Given the description of an element on the screen output the (x, y) to click on. 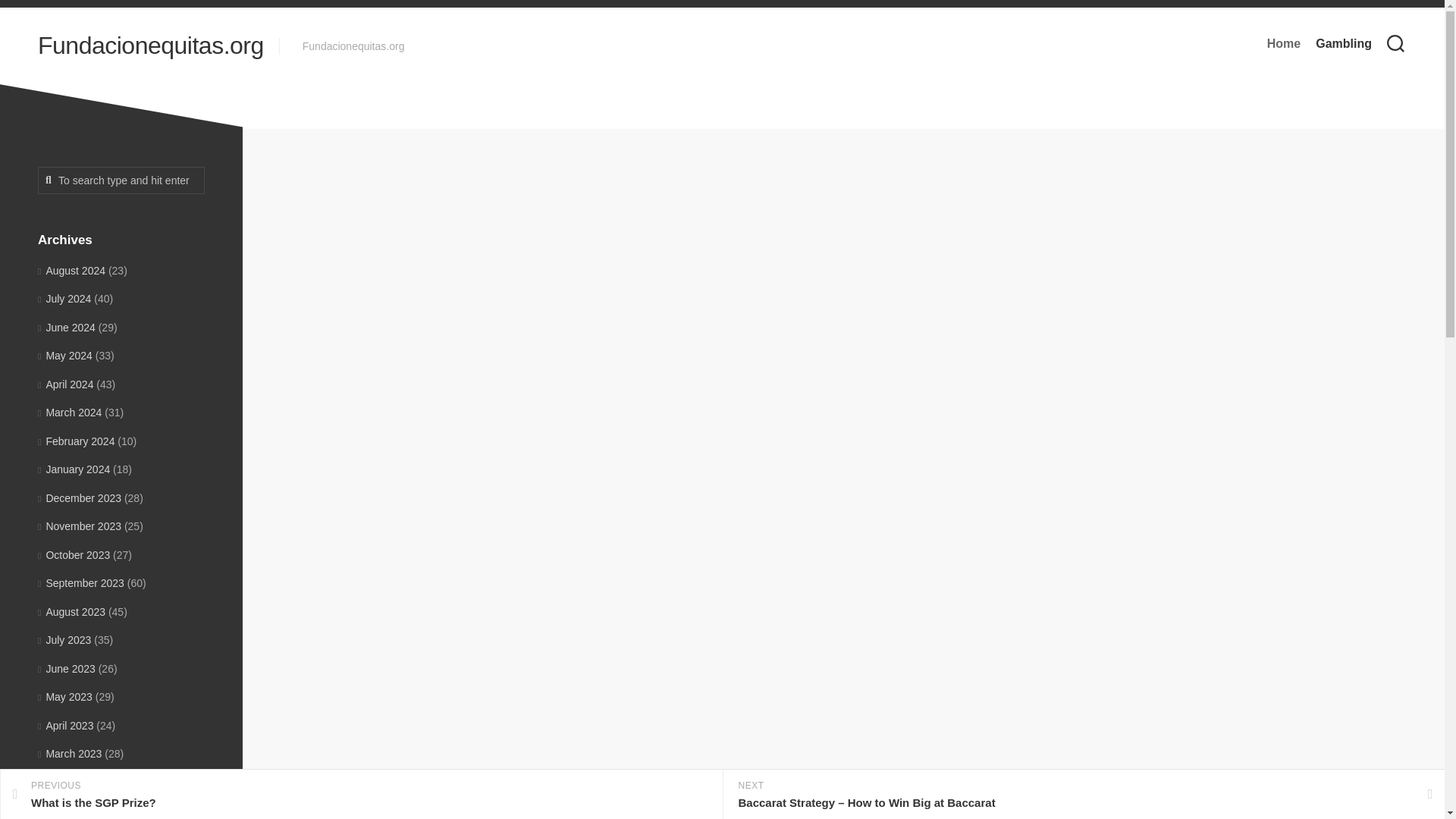
October 2023 (73, 554)
Posts by admin (724, 281)
May 2023 (65, 696)
June 2023 (66, 668)
To search type and hit enter (121, 180)
January 2023 (73, 810)
November 2023 (78, 526)
July 2024 (361, 794)
April 2024 (63, 298)
